Given the description of an element on the screen output the (x, y) to click on. 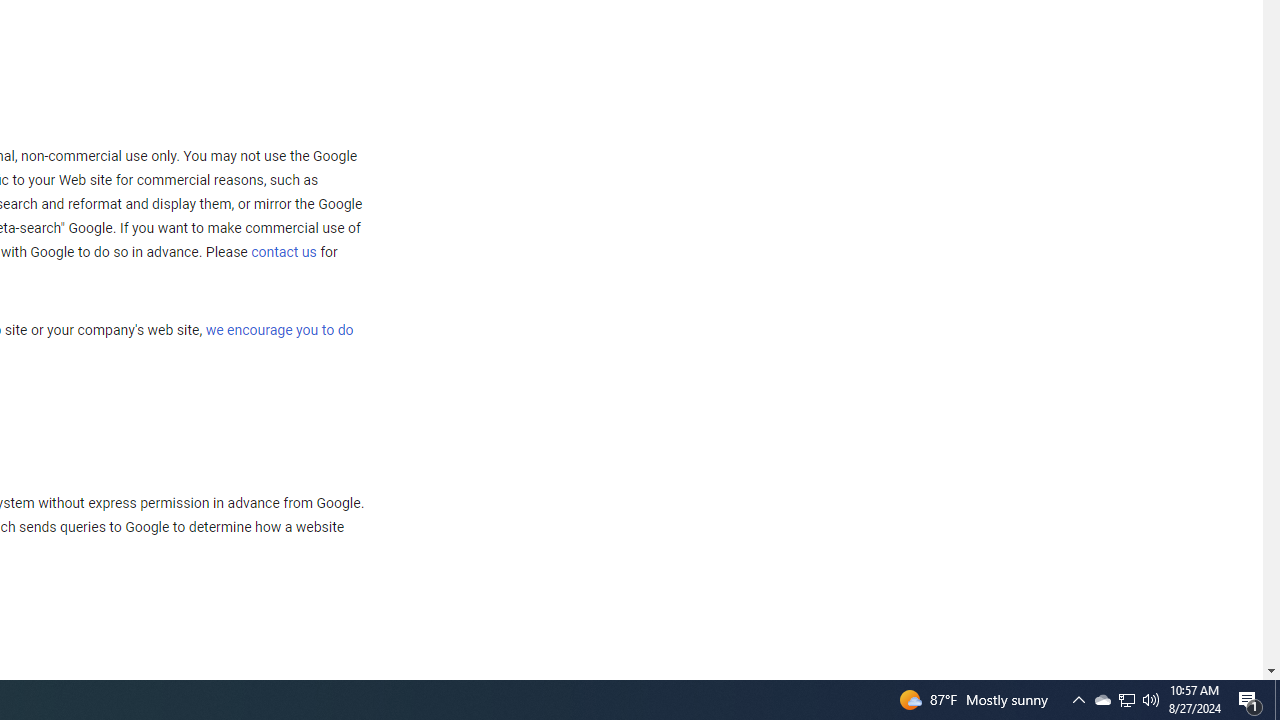
contact us (283, 251)
